Given the description of an element on the screen output the (x, y) to click on. 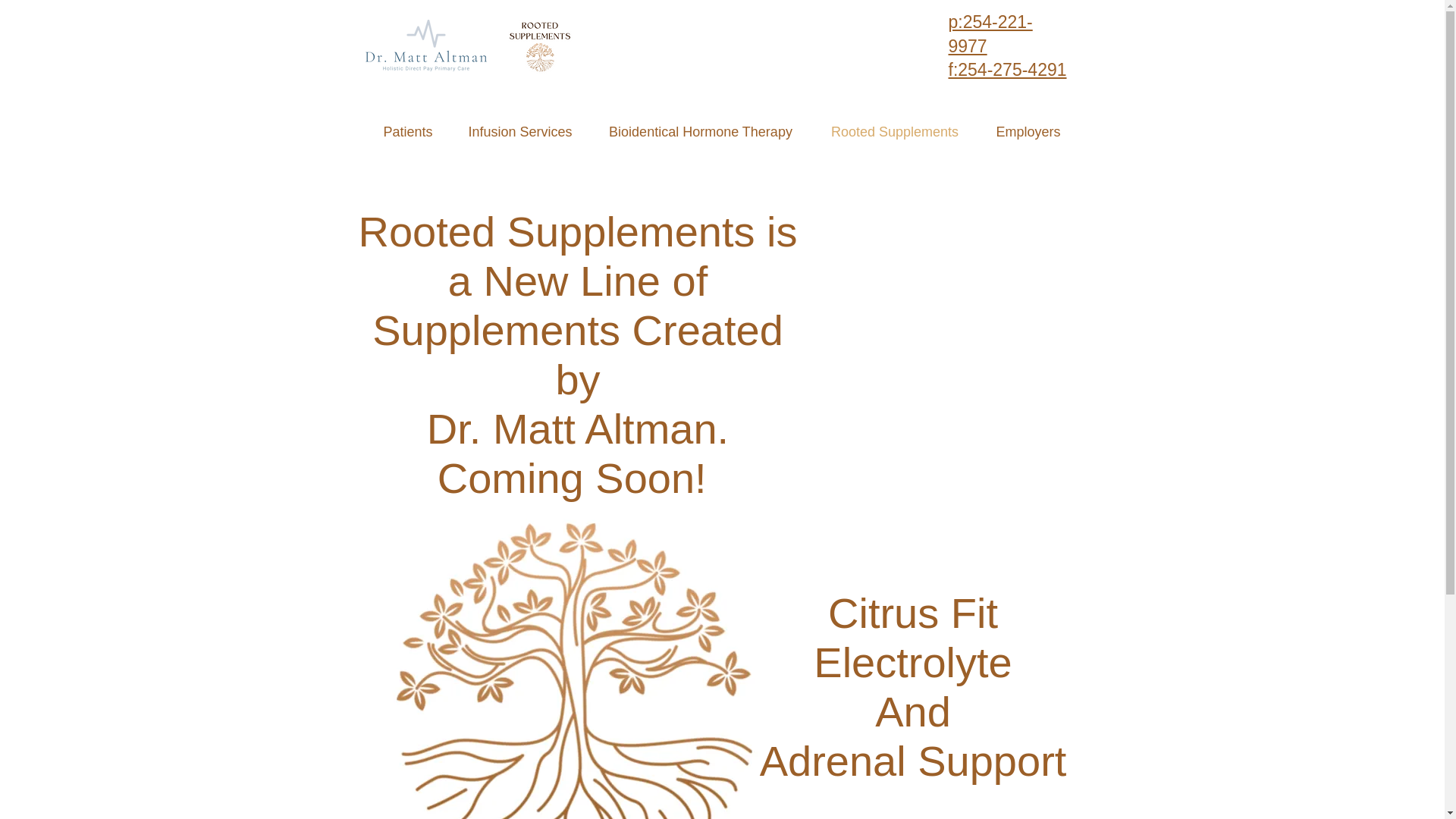
Patients (408, 131)
Employers (1028, 131)
p:254-221-9977 (989, 34)
Infusion Services (519, 131)
Rooted Supplements (893, 131)
Bioidentical Hormone Therapy (700, 131)
